Given the description of an element on the screen output the (x, y) to click on. 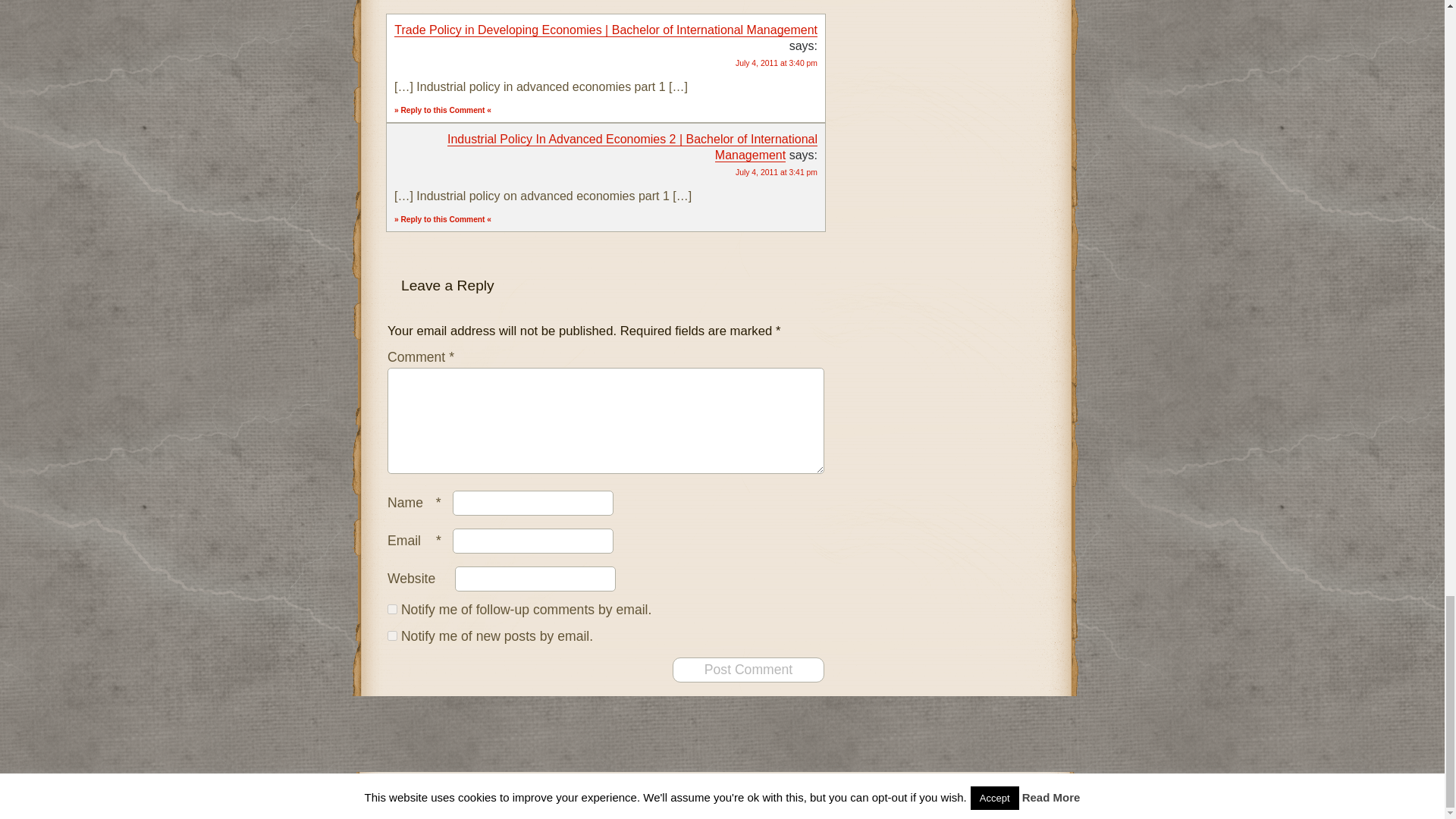
July 4, 2011 at 3:40 pm (775, 62)
subscribe (392, 609)
BuyNowShop.com (874, 802)
BuyNowShop.com (874, 802)
Bachelor of International Management (726, 787)
subscribe (392, 635)
Post Comment (748, 669)
Post Comment (748, 669)
July 4, 2011 at 3:41 pm (775, 172)
Bachelor of International Management (726, 787)
